Given the description of an element on the screen output the (x, y) to click on. 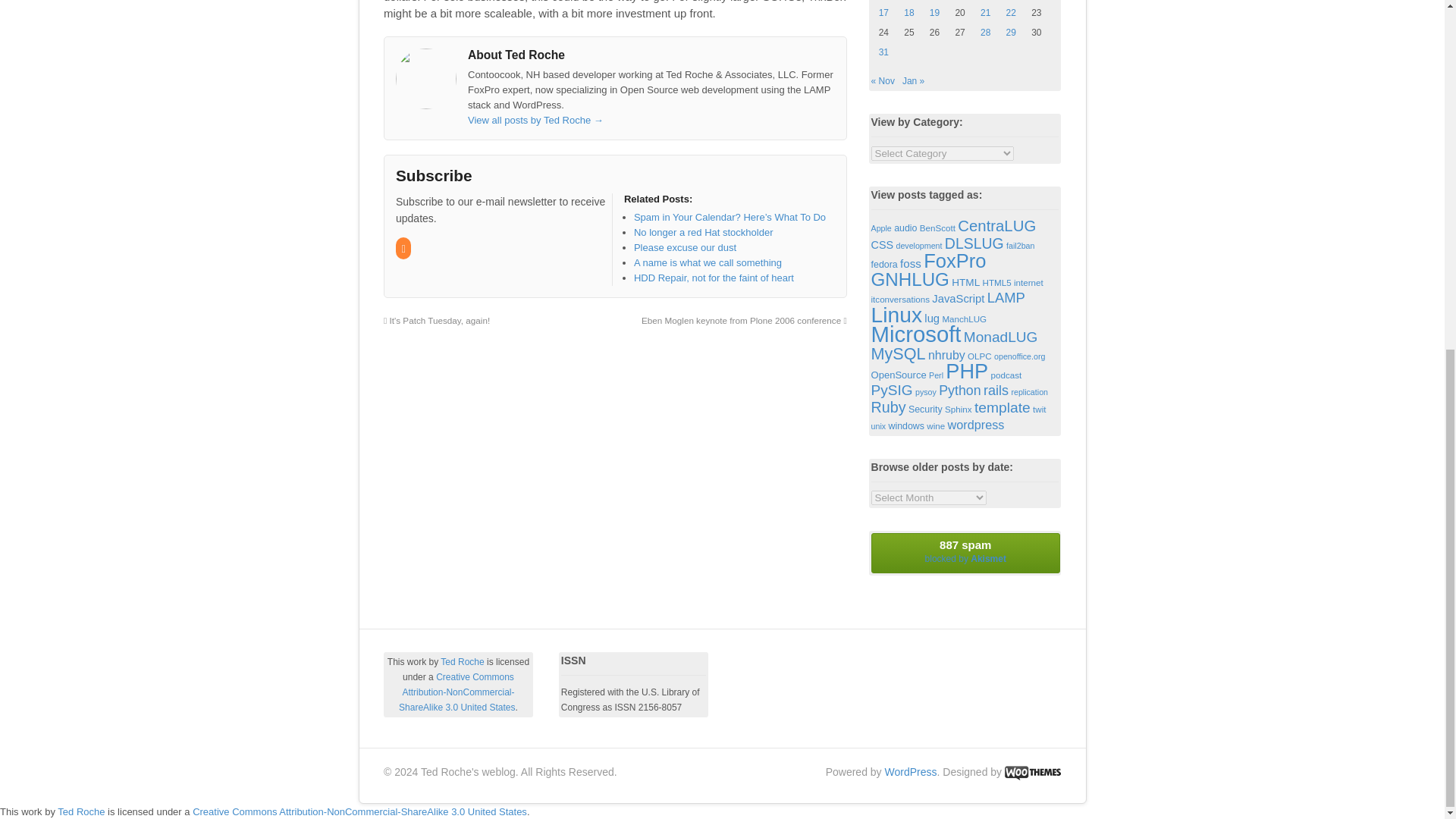
It's Patch Tuesday, again! (436, 320)
HDD Repair, not for the faint of heart (713, 277)
No longer a red Hat stockholder (703, 232)
RSS (404, 248)
A name is what we call something (707, 262)
A name is what we call something (707, 262)
Eben Moglen keynote from Plone 2006 conference (744, 320)
Please excuse our dust (684, 247)
Please excuse our dust (684, 247)
HDD Repair, not for the faint of heart (713, 277)
